Given the description of an element on the screen output the (x, y) to click on. 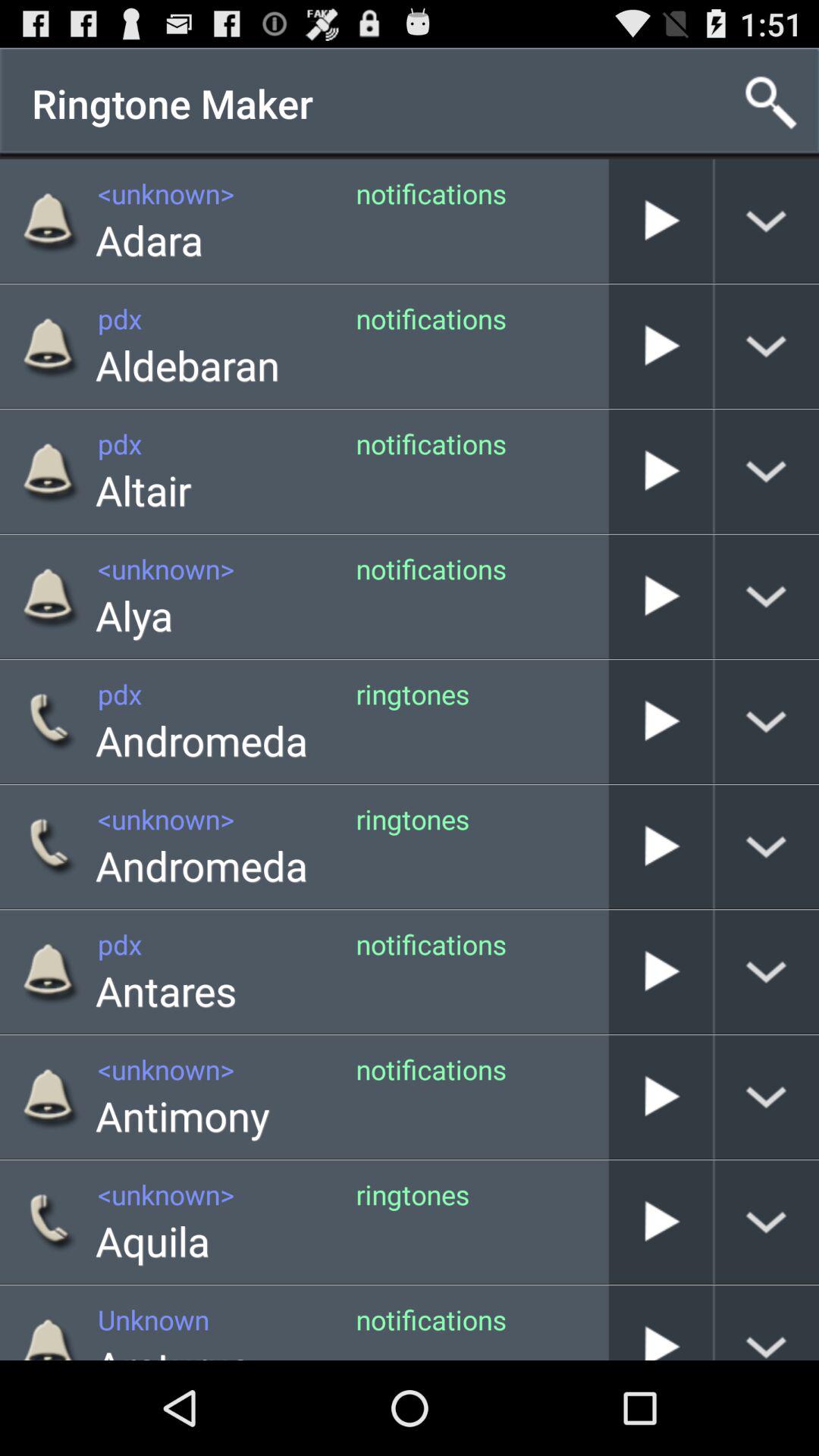
open more (767, 846)
